Given the description of an element on the screen output the (x, y) to click on. 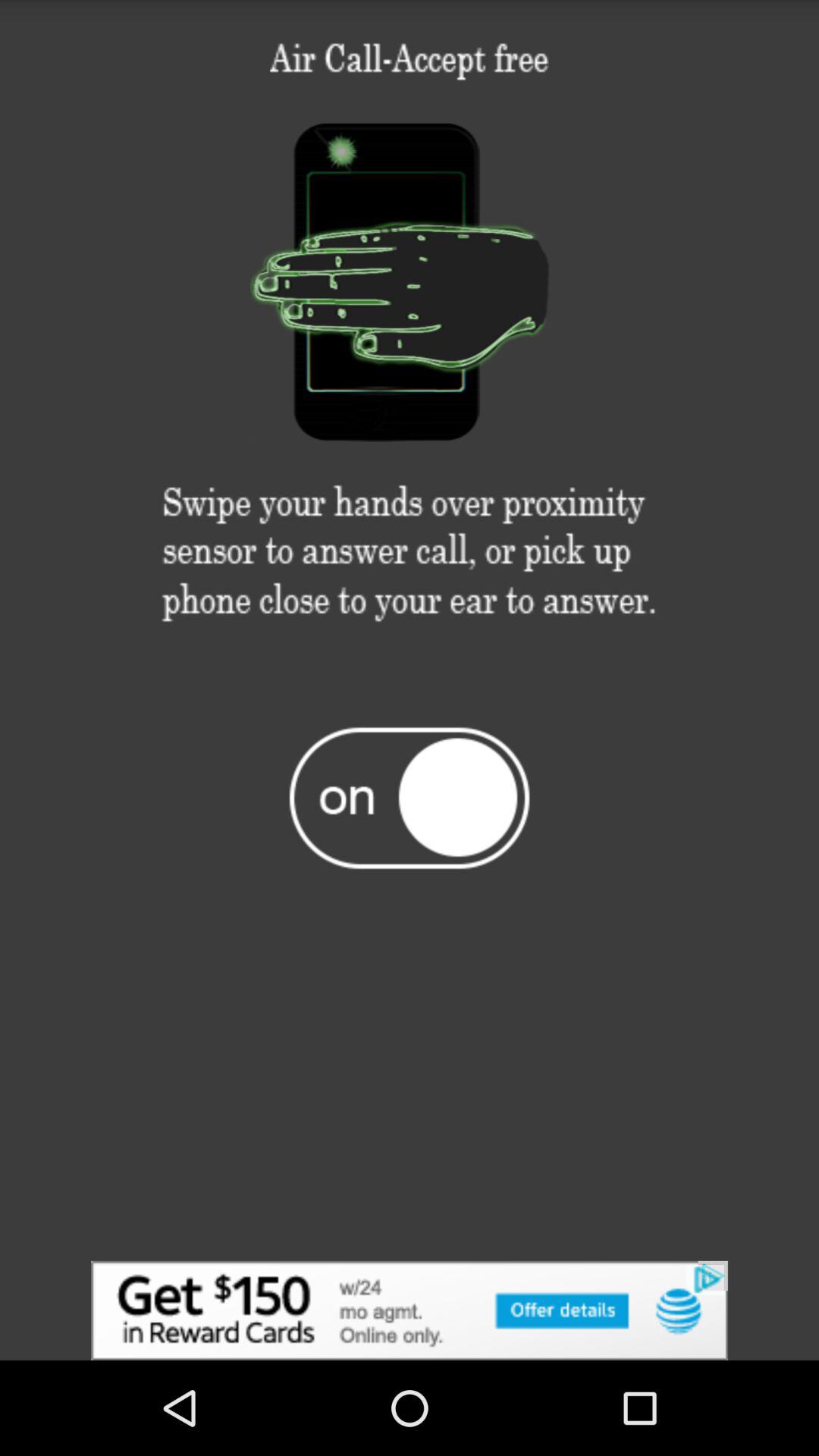
on off (409, 796)
